Given the description of an element on the screen output the (x, y) to click on. 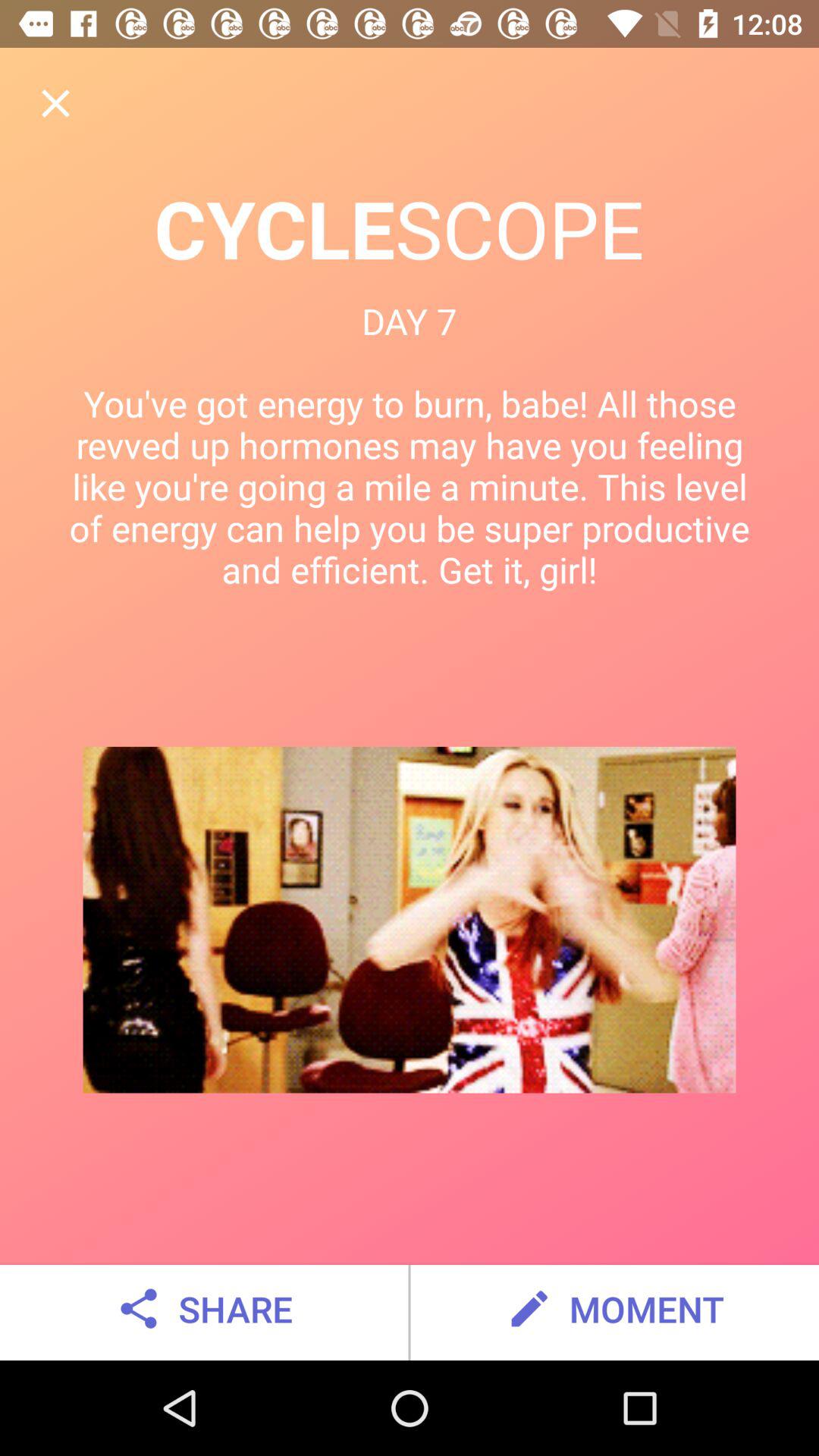
close cyclescope (55, 103)
